Given the description of an element on the screen output the (x, y) to click on. 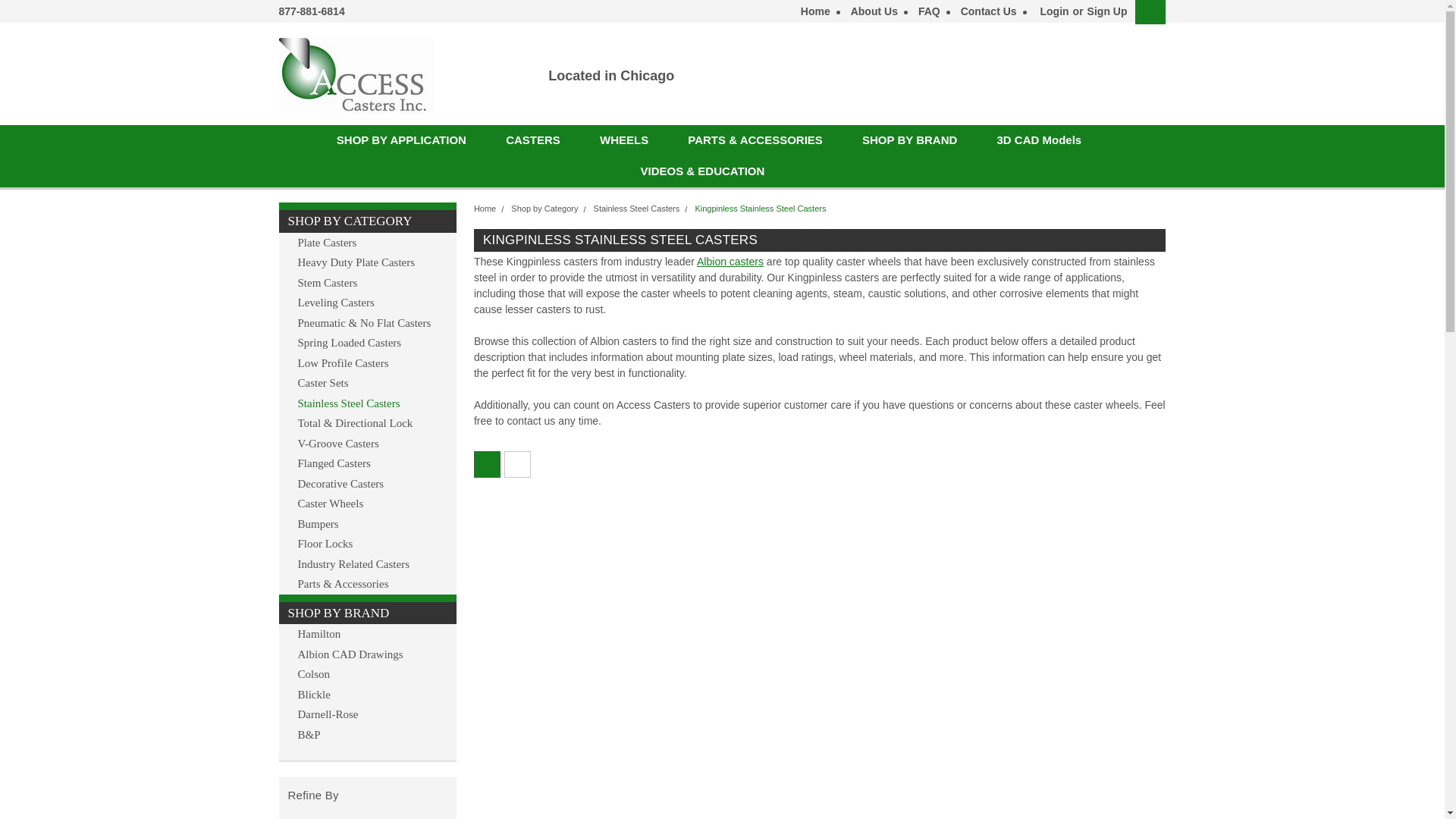
Login (1054, 11)
Home (811, 11)
FAQ (925, 11)
AccessCasters (356, 75)
About Us (870, 11)
Contact Us (984, 11)
Sign Up (1104, 11)
